Given the description of an element on the screen output the (x, y) to click on. 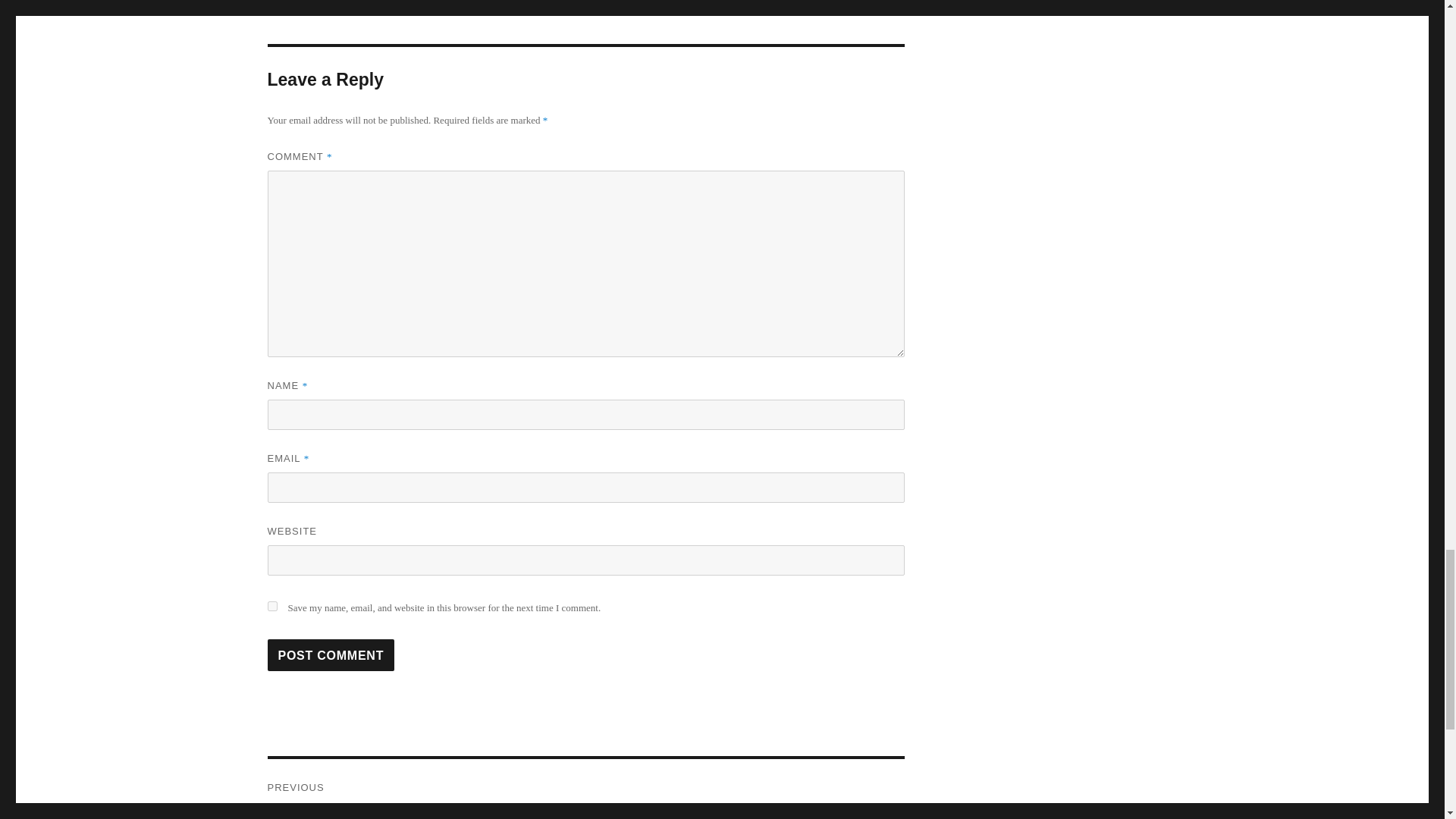
Post Comment (330, 654)
Post Comment (330, 654)
yes (271, 605)
